Given the description of an element on the screen output the (x, y) to click on. 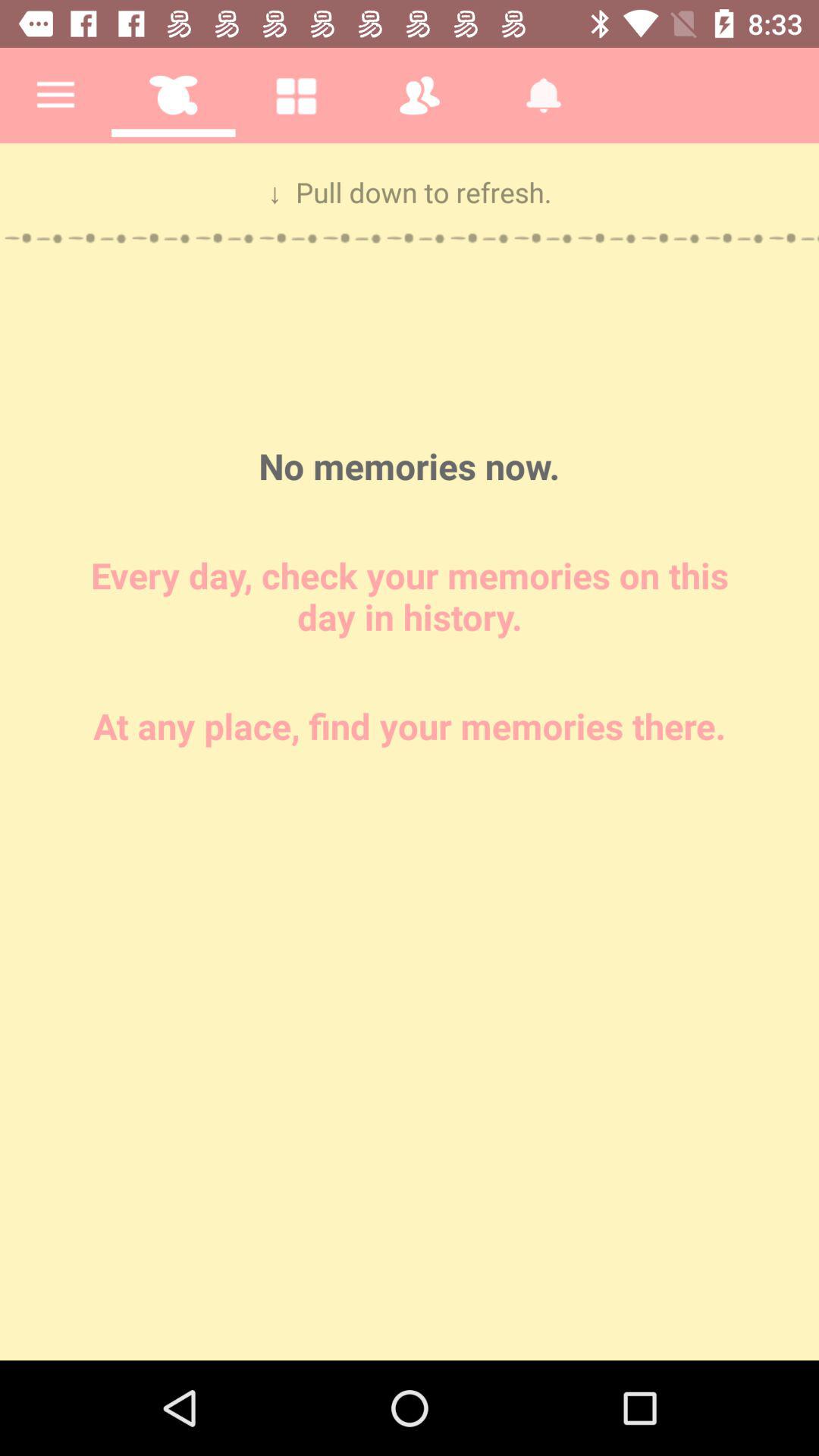
click on the fifth icon on the top row (543, 95)
click on the fourth icon on the first row (420, 95)
click on the third icon on the first row (296, 95)
